Given the description of an element on the screen output the (x, y) to click on. 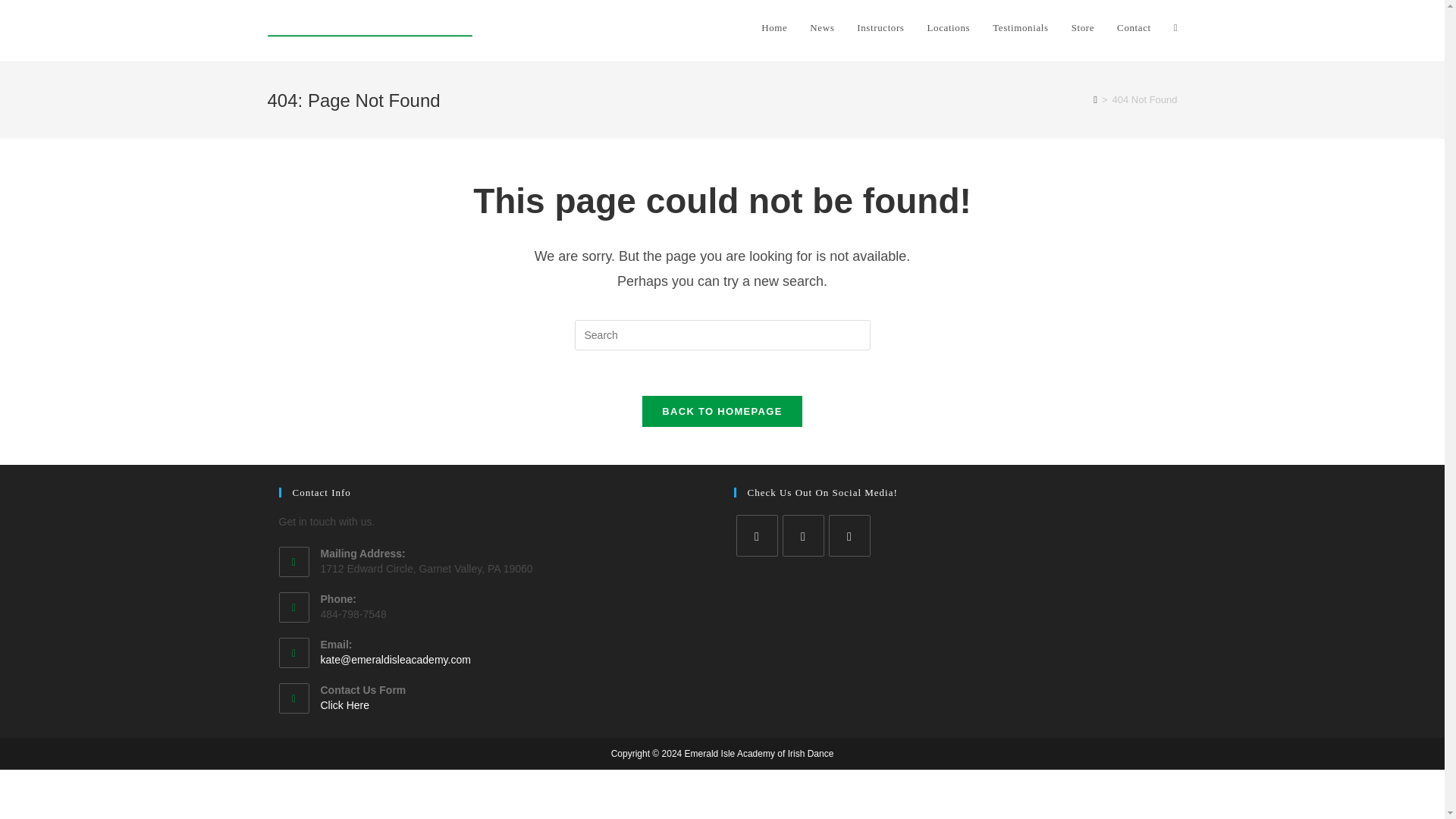
Testimonials (1020, 28)
Locations (948, 28)
BACK TO HOMEPAGE (722, 410)
Contact (1133, 28)
Instructors (880, 28)
Click Here (344, 705)
